Given the description of an element on the screen output the (x, y) to click on. 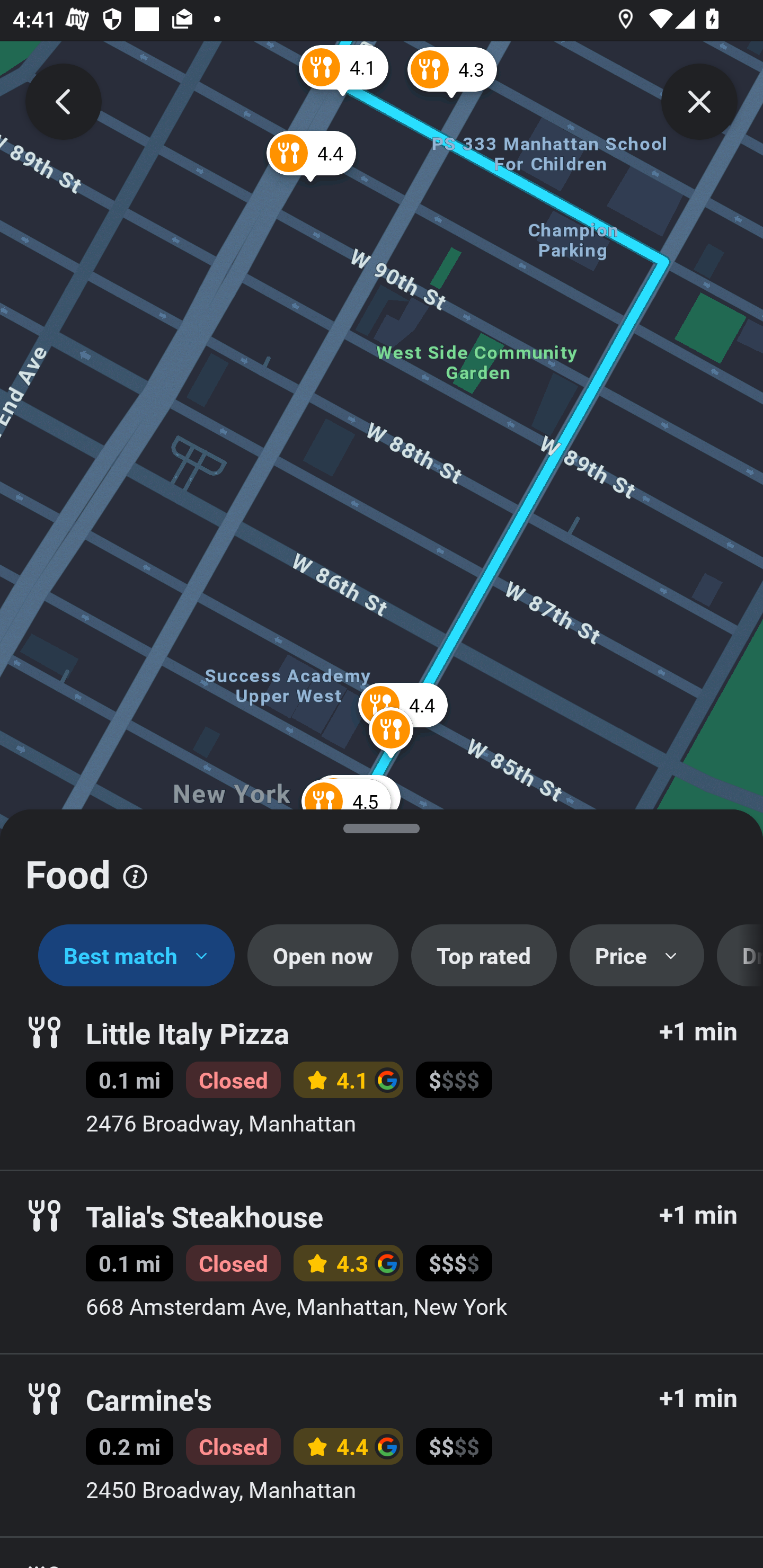
Food (381, 867)
Best match (136, 955)
Open now (322, 955)
Top rated (483, 955)
Price (636, 955)
